Given the description of an element on the screen output the (x, y) to click on. 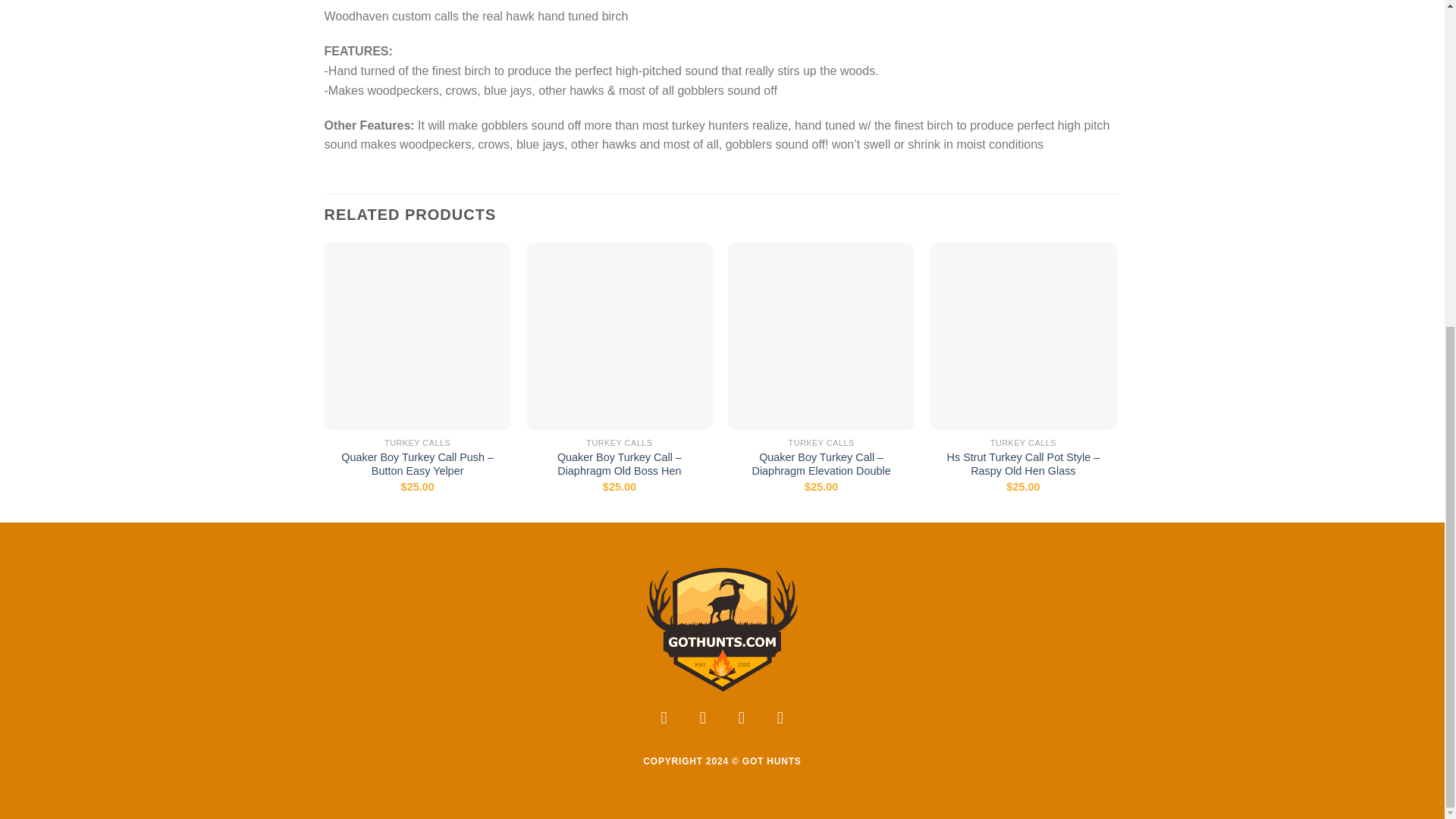
Send us an email (741, 721)
Follow on YouTube (779, 721)
Submit (387, 614)
Follow on Instagram (702, 721)
Follow on Facebook (664, 721)
